Given the description of an element on the screen output the (x, y) to click on. 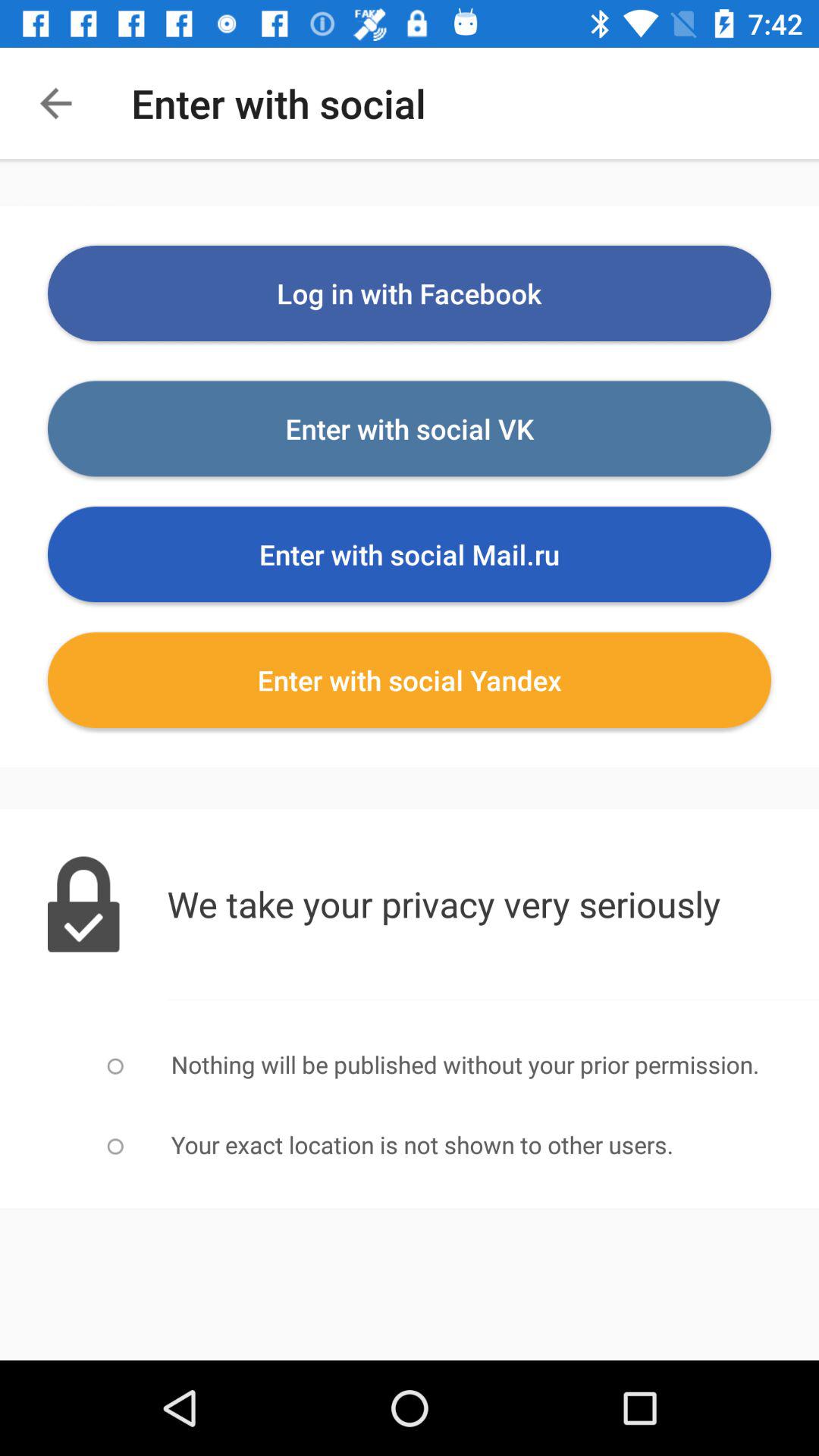
turn off the log in with item (409, 293)
